Given the description of an element on the screen output the (x, y) to click on. 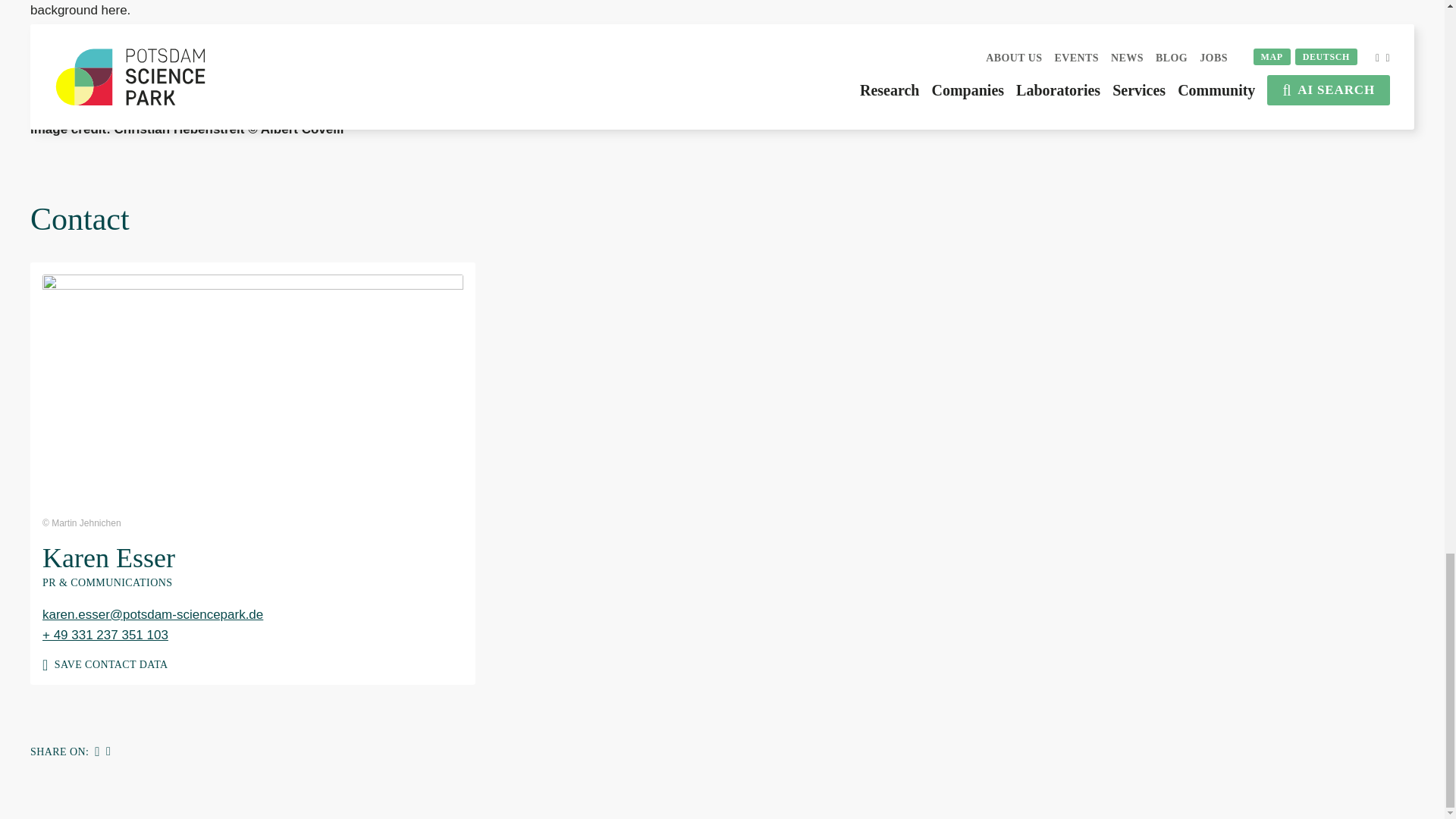
SAVE CONTACT DATA (252, 658)
